Given the description of an element on the screen output the (x, y) to click on. 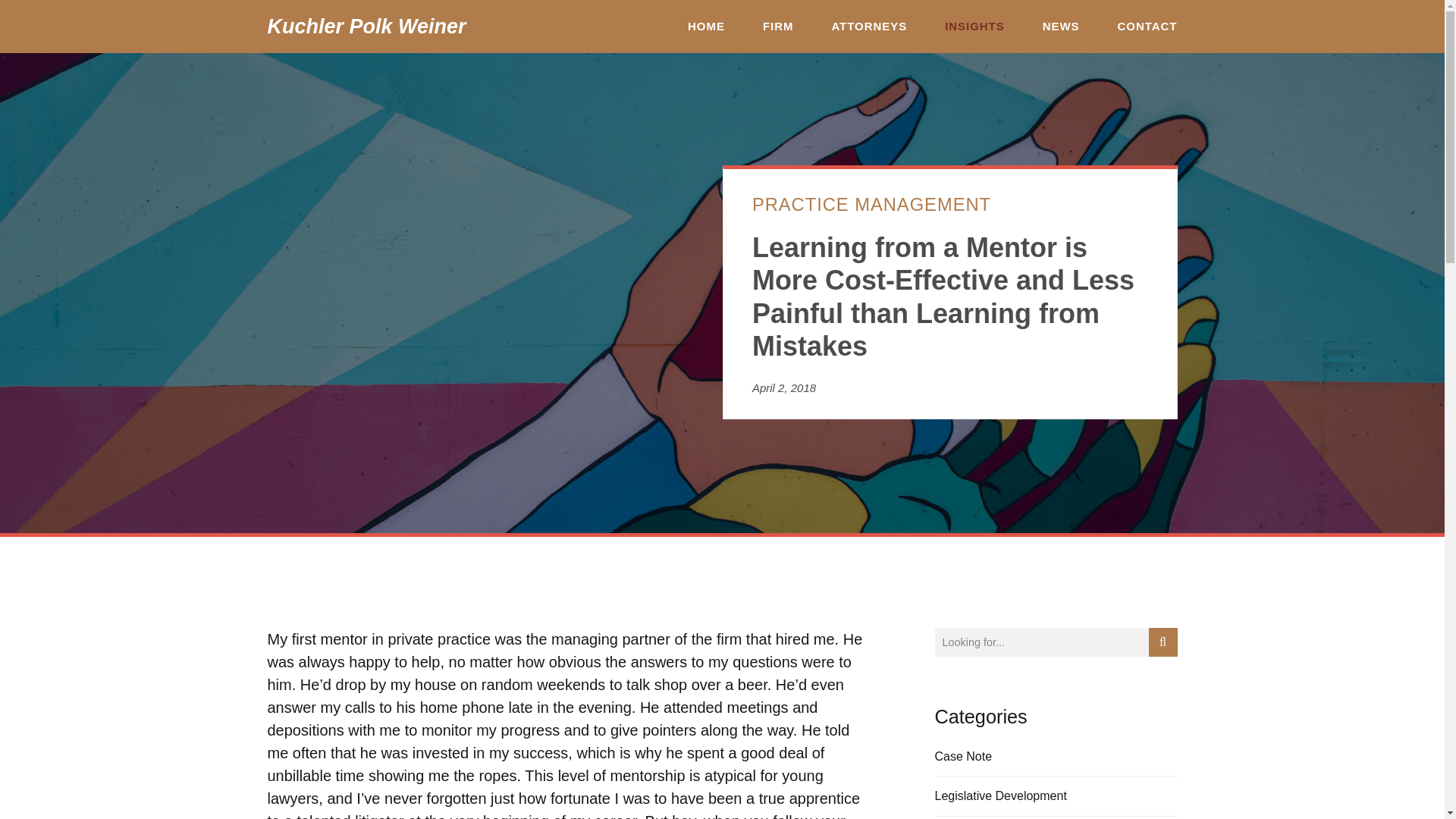
Case Note (962, 756)
Legislative Development (999, 795)
CONTACT (1147, 26)
PRACTICE MANAGEMENT (871, 204)
Kuchler Polk Weiner (365, 26)
ATTORNEYS (869, 26)
INSIGHTS (974, 26)
